Given the description of an element on the screen output the (x, y) to click on. 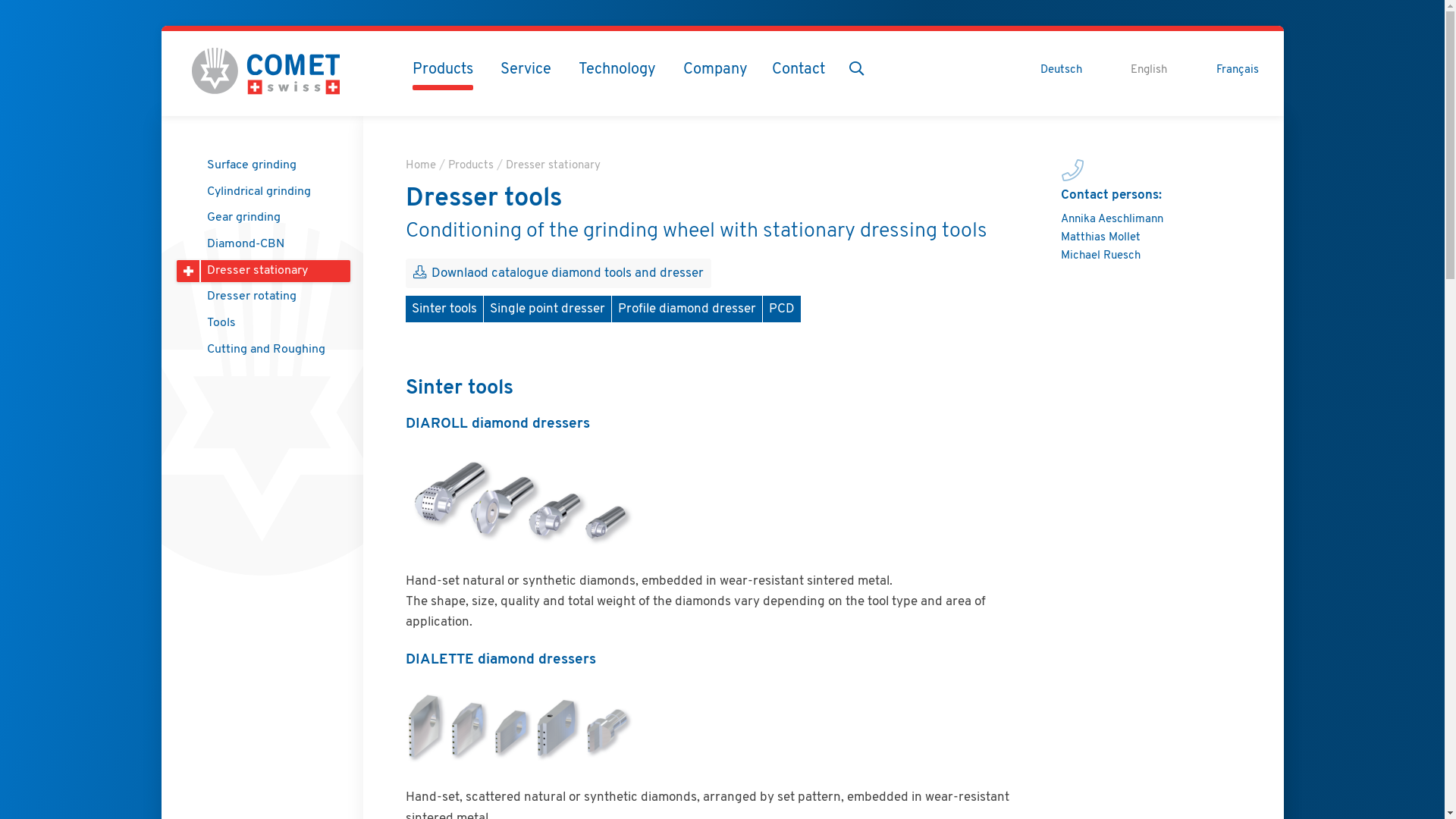
Contact Element type: text (798, 69)
Service Element type: text (525, 69)
Michael Ruesch Element type: text (1100, 255)
Annika Aeschlimann Element type: text (1111, 219)
Products Element type: text (470, 165)
Gear grinding Element type: text (270, 218)
Dresser stationary Element type: text (270, 271)
Technology Element type: text (616, 69)
Sinter tools Element type: text (444, 308)
Deutsch Element type: text (1061, 70)
Dresser stationary Element type: text (552, 165)
Products Element type: text (442, 69)
Dresser rotating Element type: text (270, 296)
Profile diamond dresser Element type: text (686, 308)
Diamond-CBN Element type: text (270, 244)
Single point dresser Element type: text (547, 308)
Company Element type: text (715, 69)
Surface grinding Element type: text (270, 165)
Tools Element type: text (270, 323)
Cylindrical grinding Element type: text (270, 192)
Downlaod catalogue diamond tools and dresser Element type: text (558, 273)
PCD Element type: text (781, 308)
Cutting and Roughing Element type: text (270, 349)
Matthias Mollet Element type: text (1100, 237)
Home Element type: text (420, 165)
